Given the description of an element on the screen output the (x, y) to click on. 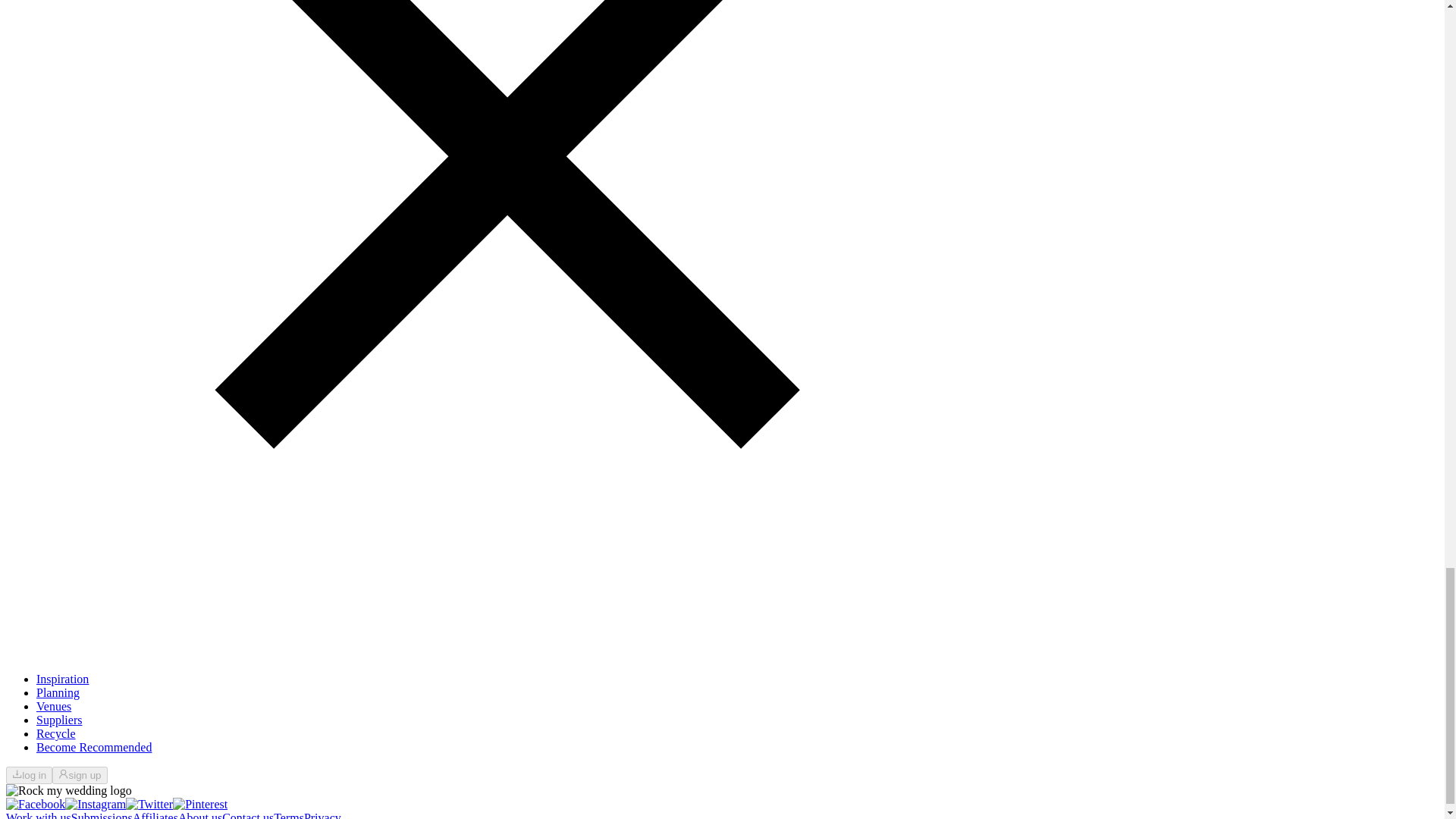
Suppliers (58, 719)
Recycle (55, 733)
log in (28, 774)
sign up (79, 774)
Planning (58, 692)
Inspiration (62, 678)
Venues (53, 706)
Become Recommended (93, 747)
